Given the description of an element on the screen output the (x, y) to click on. 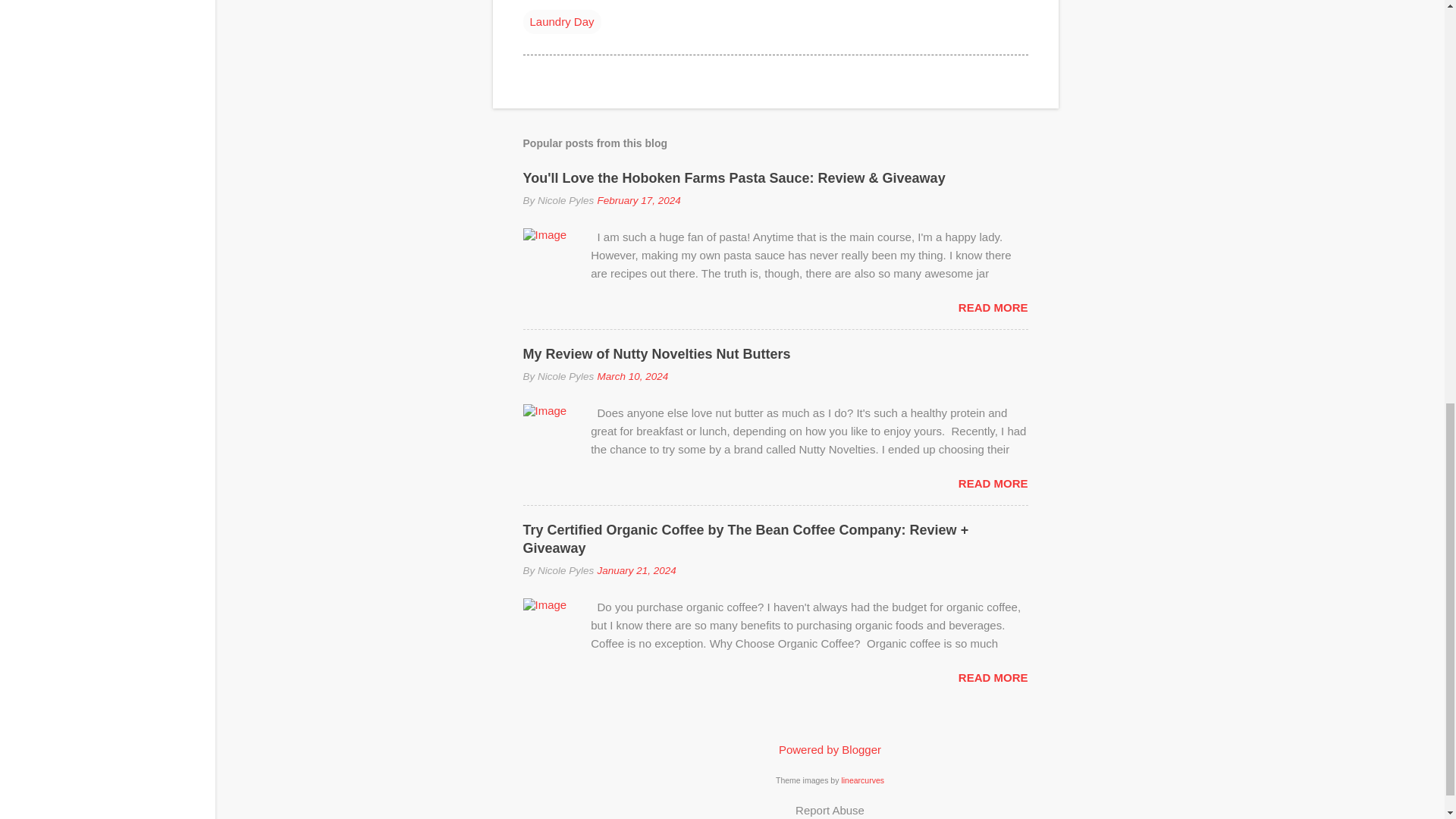
linearcurves (862, 778)
My Review of Nutty Novelties Nut Butters (656, 353)
January 21, 2024 (635, 570)
Powered by Blogger (829, 748)
March 10, 2024 (632, 376)
February 17, 2024 (637, 200)
Laundry Day (561, 21)
READ MORE (992, 482)
permanent link (637, 200)
READ MORE (992, 676)
Report Abuse (829, 809)
READ MORE (992, 307)
